Given the description of an element on the screen output the (x, y) to click on. 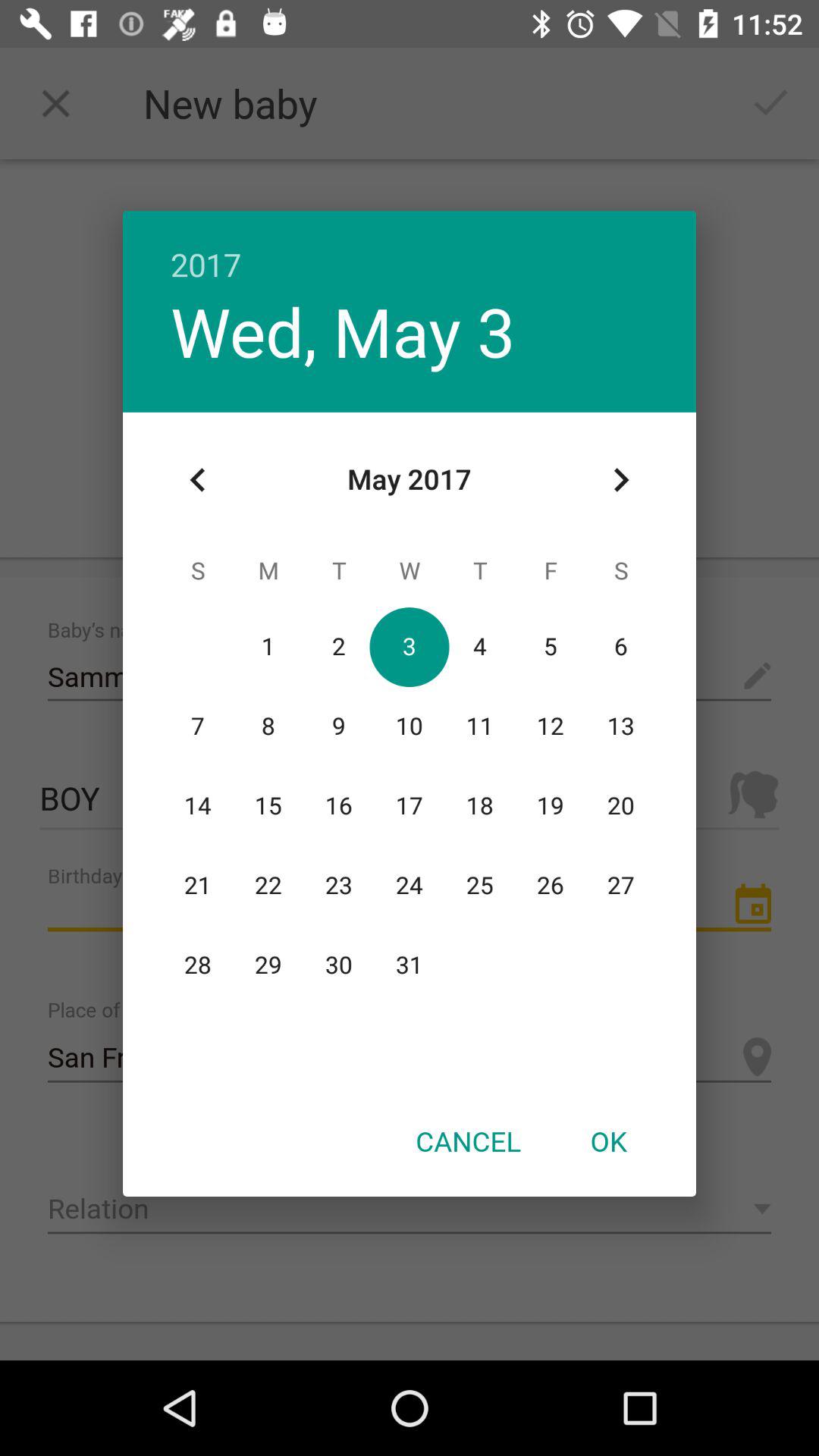
tap the item next to ok icon (467, 1140)
